Given the description of an element on the screen output the (x, y) to click on. 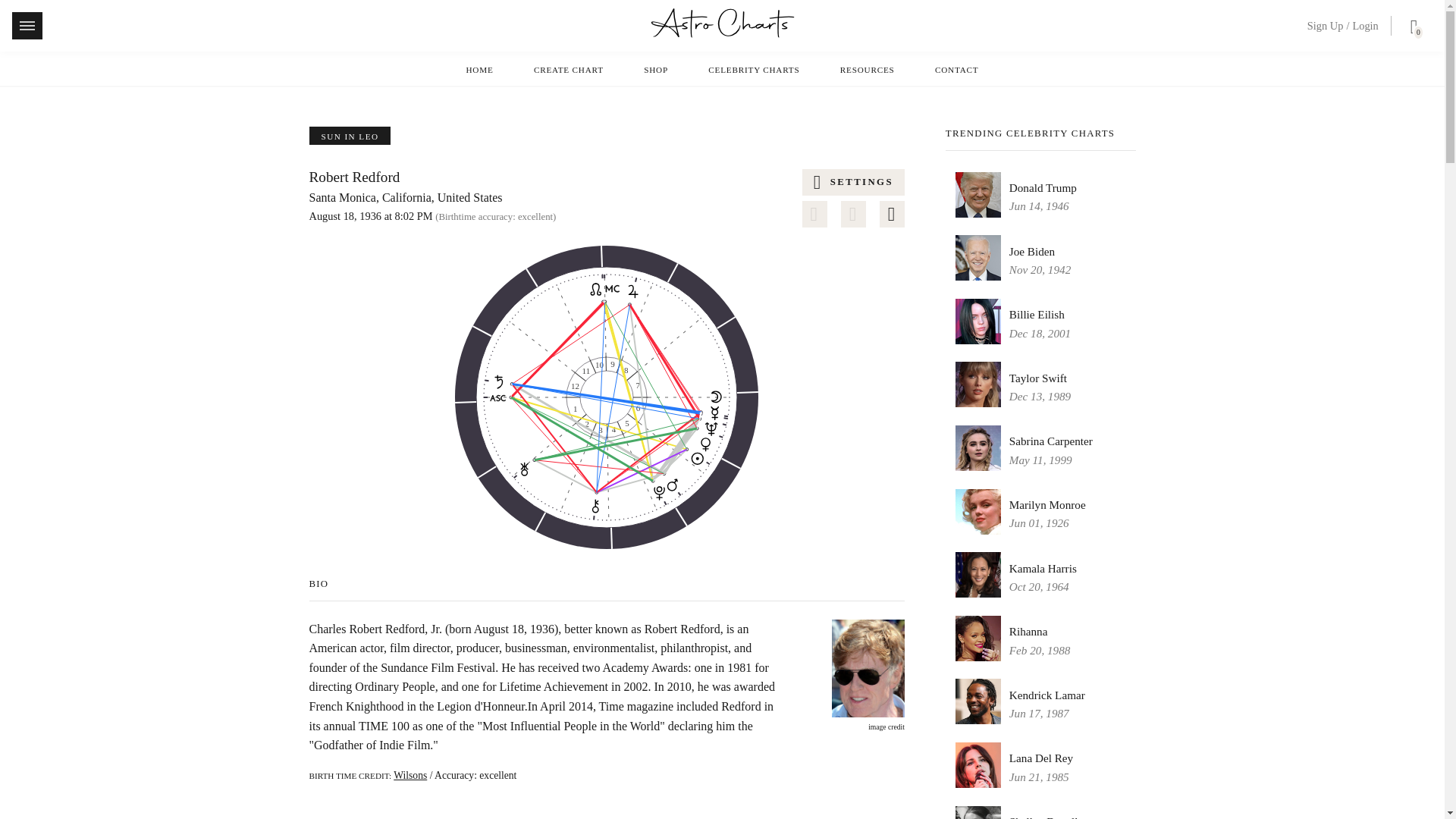
Login (1364, 25)
Share chart (853, 213)
0 (1410, 29)
Save chart (814, 213)
Sign Up (1325, 25)
See chart aspect legend (606, 396)
CREATE CHART (891, 213)
HOME (569, 69)
See chart settings (479, 69)
